Given the description of an element on the screen output the (x, y) to click on. 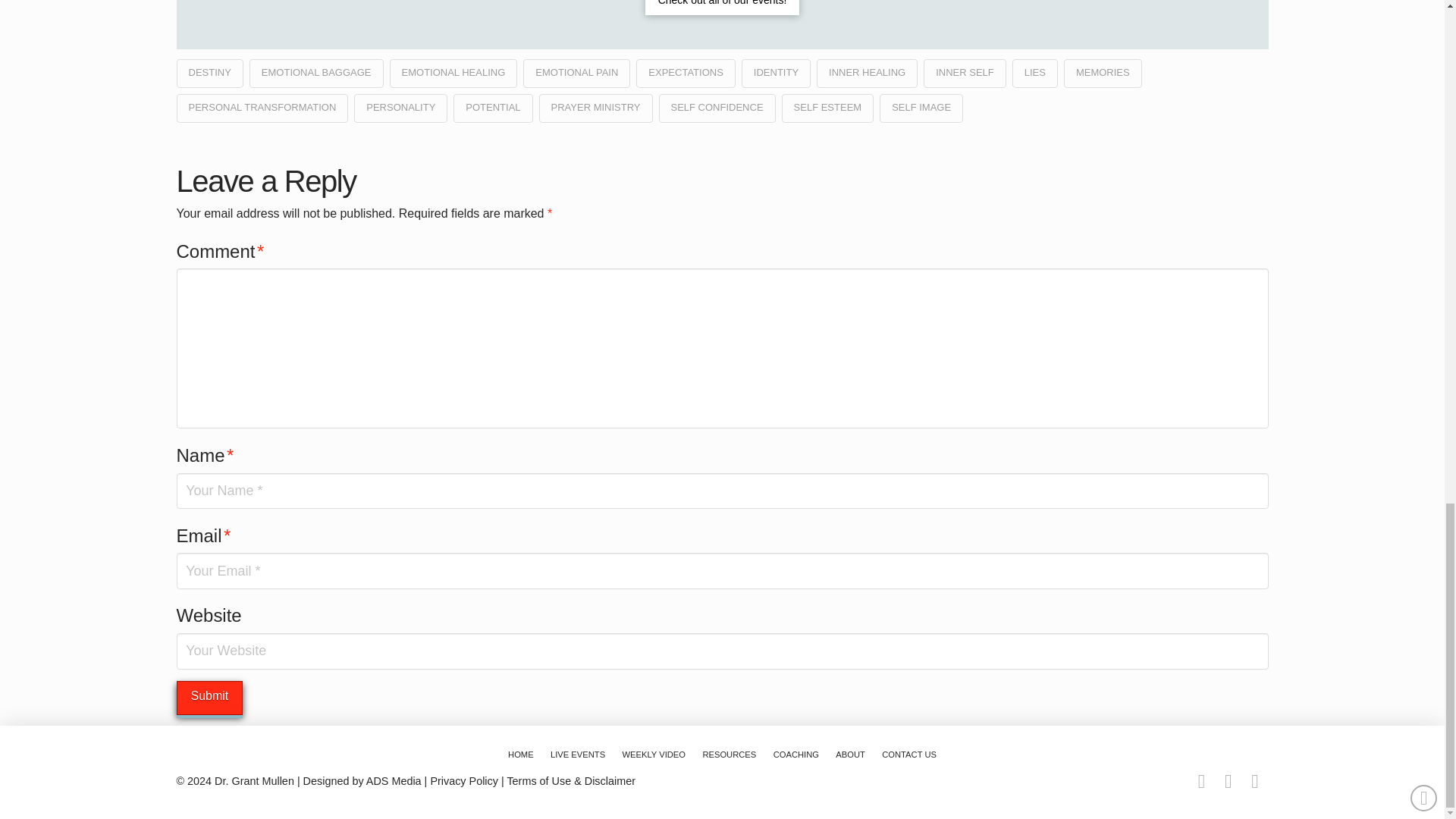
INNER SELF (964, 72)
Submit (209, 697)
EXPECTATIONS (685, 72)
EMOTIONAL BAGGAGE (316, 72)
POTENTIAL (492, 108)
Check out all of our events! (722, 7)
PERSONALITY (399, 108)
EMOTIONAL HEALING (454, 72)
INNER HEALING (866, 72)
MEMORIES (1102, 72)
LIES (1034, 72)
EMOTIONAL PAIN (576, 72)
IDENTITY (775, 72)
DESTINY (209, 72)
PERSONAL TRANSFORMATION (261, 108)
